Given the description of an element on the screen output the (x, y) to click on. 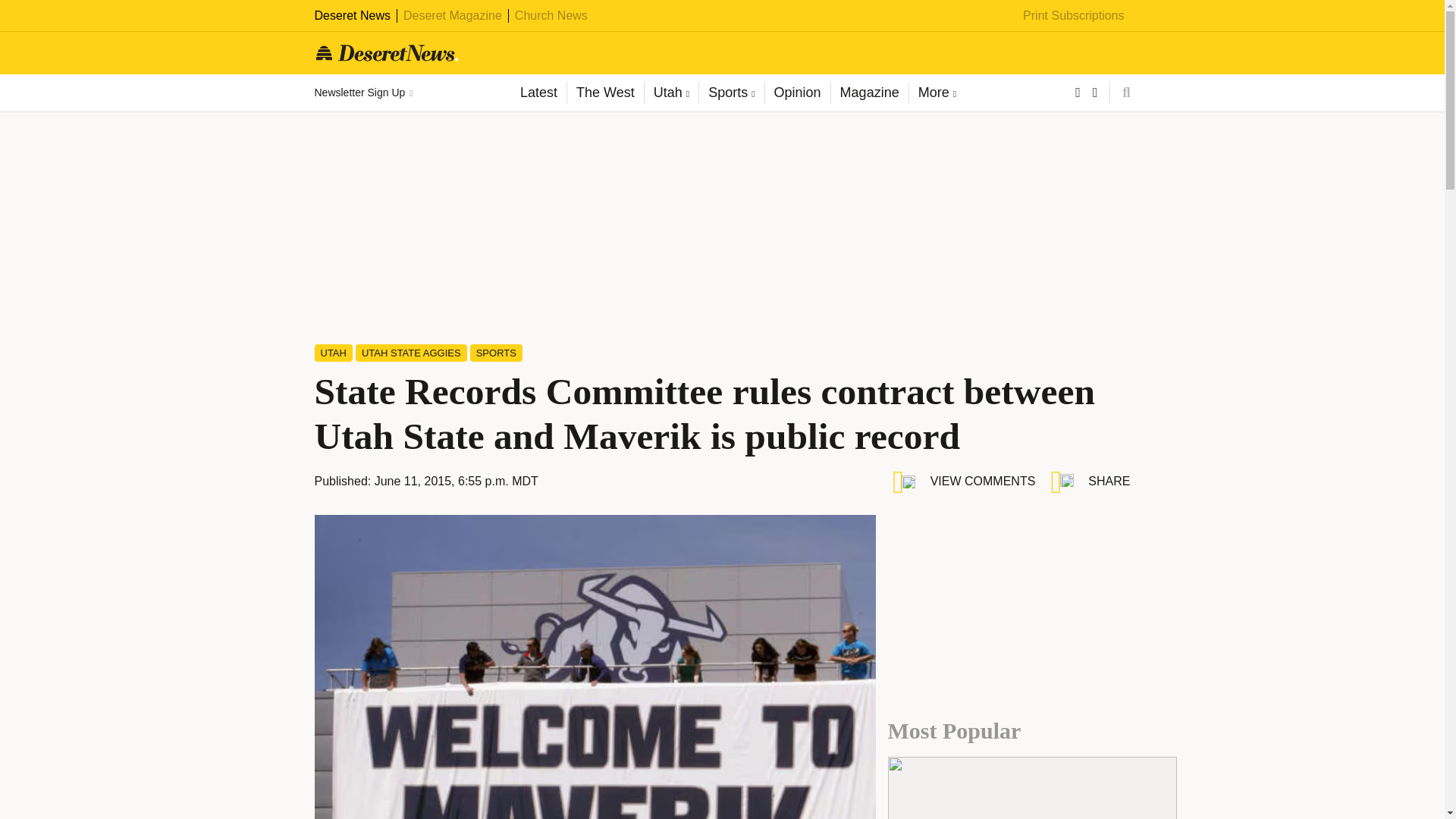
Print Subscriptions (1073, 15)
Opinion (796, 92)
Magazine (868, 92)
Sports (730, 92)
UTAH (333, 352)
UTAH STATE AGGIES (411, 352)
Newsletter Sign Up (363, 92)
Latest (538, 92)
SPORTS (496, 352)
The West (604, 92)
